Given the description of an element on the screen output the (x, y) to click on. 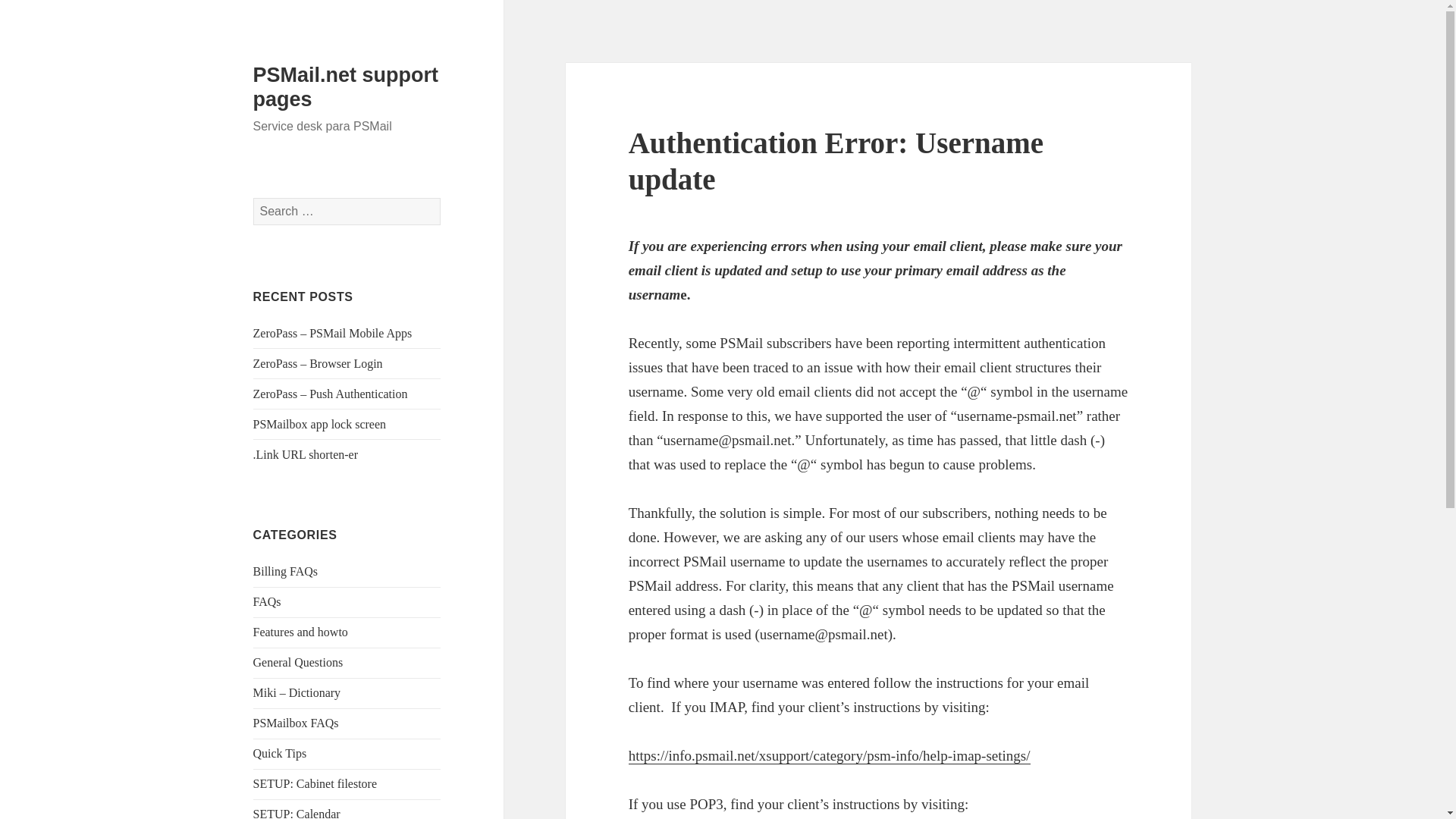
SETUP: Cabinet filestore (315, 783)
.Link URL shorten-er (305, 454)
Quick Tips (280, 753)
Features and howto (300, 631)
SETUP: Calendar (296, 813)
General Questions (298, 662)
PSMail.net support pages (346, 86)
